Given the description of an element on the screen output the (x, y) to click on. 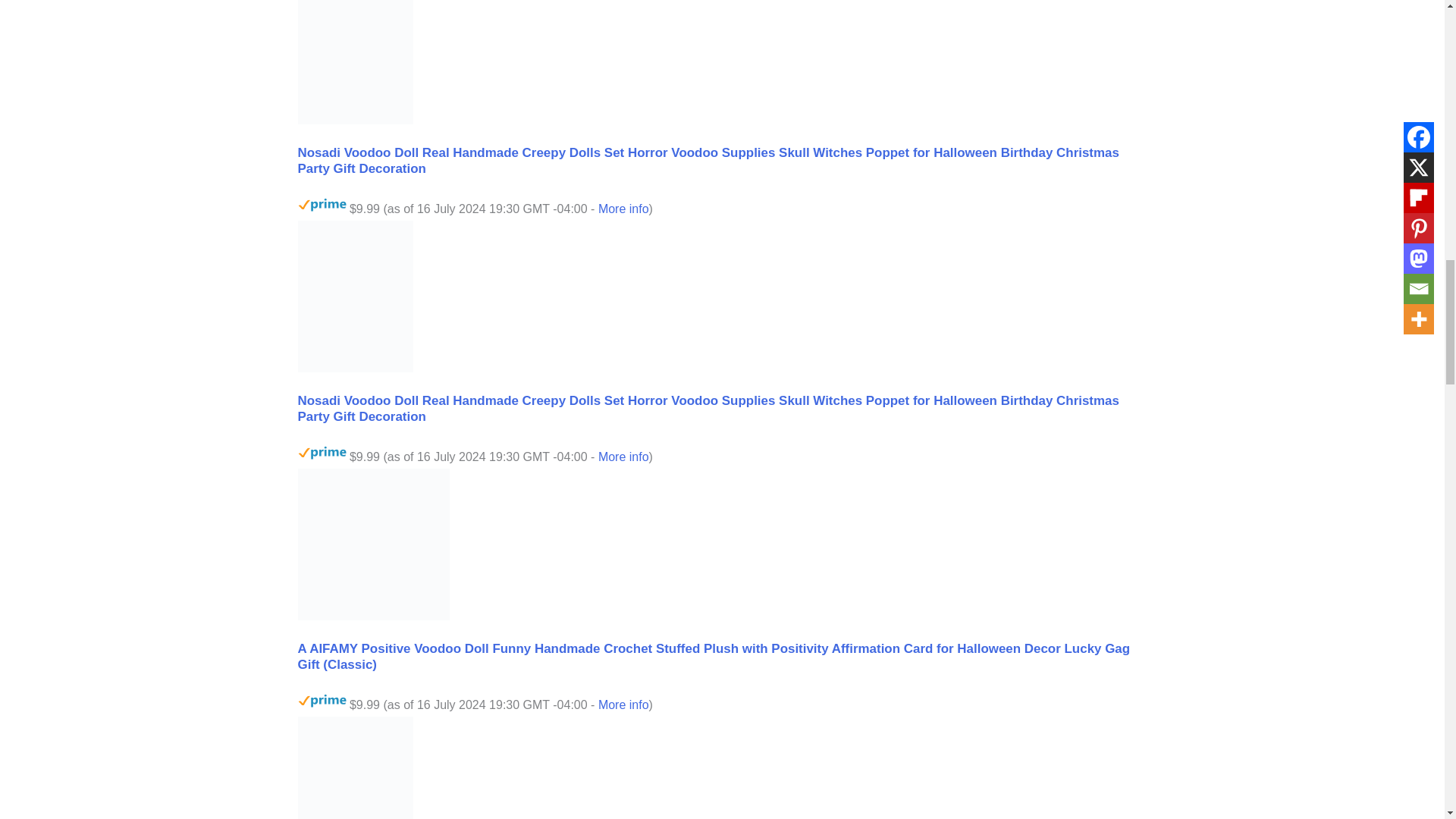
Available for Amazon Prime (321, 701)
Available for Amazon Prime (321, 453)
Available for Amazon Prime (321, 205)
